Given the description of an element on the screen output the (x, y) to click on. 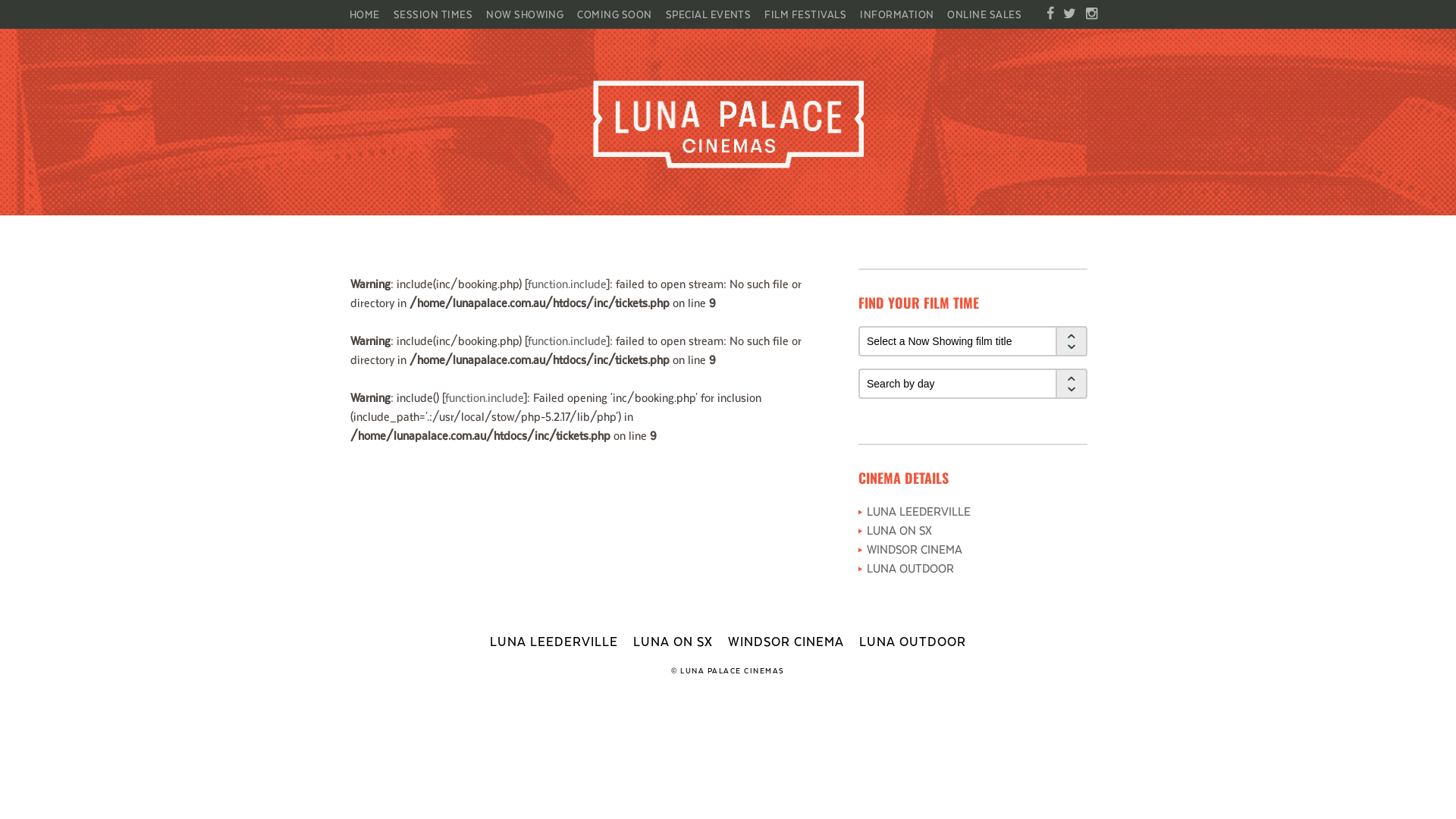
LUNA LEEDERVILLE Element type: text (553, 640)
LUNA LEEDERVILLE Element type: text (918, 510)
function.include Element type: text (484, 396)
SPECIAL EVENTS Element type: text (708, 13)
LUNA OUTDOOR Element type: text (912, 640)
COMING SOON Element type: text (614, 13)
ONLINE SALES Element type: text (984, 13)
LUNA OUTDOOR Element type: text (909, 567)
SESSION TIMES Element type: text (432, 13)
FILM FESTIVALS Element type: text (805, 13)
NOW SHOWING Element type: text (524, 13)
Follow us on Instagram Element type: hover (1091, 14)
Follow us on Twitter Element type: hover (1069, 14)
INFORMATION Element type: text (896, 13)
WINDSOR CINEMA Element type: text (914, 548)
LUNA ON SX Element type: text (672, 640)
HOME Element type: text (367, 13)
function.include Element type: text (566, 282)
Follow us on Facebook Element type: hover (1049, 14)
WINDSOR CINEMA Element type: text (785, 640)
function.include Element type: text (566, 339)
LUNA ON SX Element type: text (898, 529)
